Given the description of an element on the screen output the (x, y) to click on. 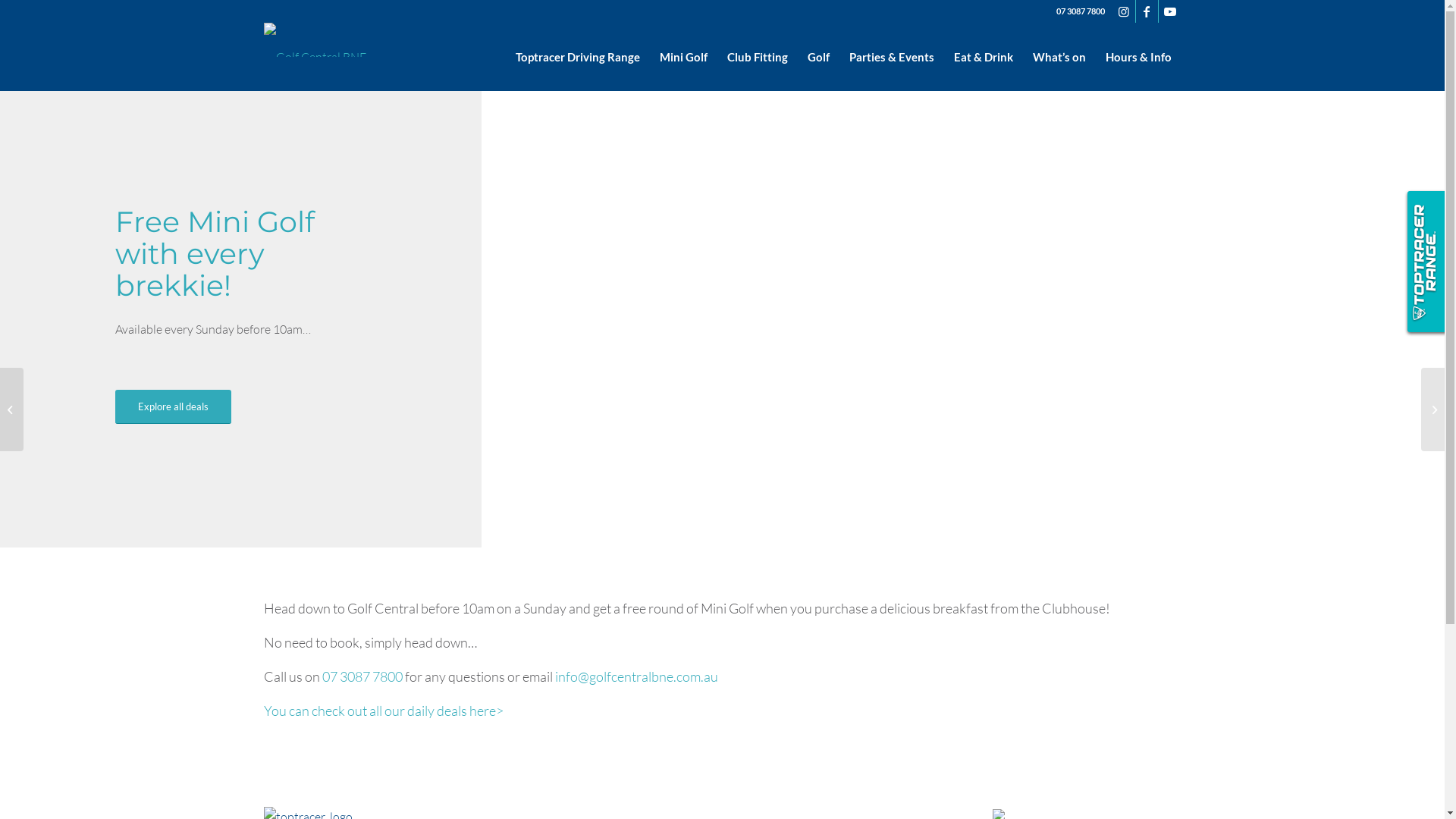
Golf Element type: text (818, 56)
Instagram Element type: hover (1124, 11)
info@golfcentralbne.com.au Element type: text (636, 676)
toptracer-golf-range Element type: text (1424, 262)
Explore all deals Element type: text (173, 406)
Mini Golf Element type: text (682, 56)
Hours & Info Element type: text (1137, 56)
You can check out all our daily deals here> Element type: text (383, 710)
07 3087 7800 Element type: text (361, 676)
gc-logo-white Element type: hover (314, 39)
Eat & Drink Element type: text (982, 56)
Toptracer Driving Range Element type: text (577, 56)
Club Fitting Element type: text (757, 56)
Parties & Events Element type: text (890, 56)
Youtube Element type: hover (1169, 11)
Facebook Element type: hover (1146, 11)
